Given the description of an element on the screen output the (x, y) to click on. 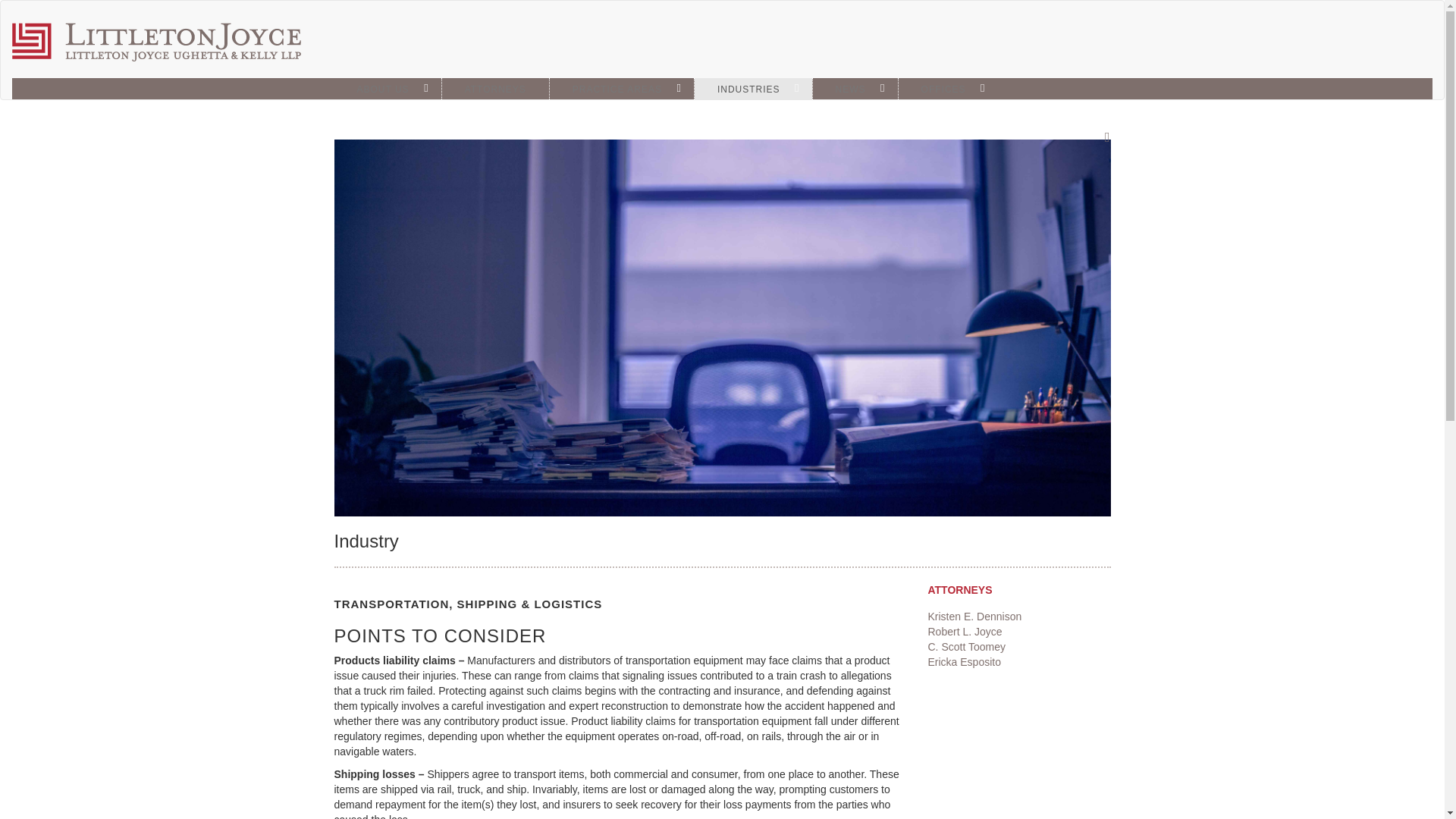
OFFICES (947, 88)
PRACTICE AREAS (622, 88)
ABOUT US (387, 88)
Home (162, 41)
INDUSTRIES (753, 88)
NEWS (855, 88)
ATTORNEYS (495, 88)
